Given the description of an element on the screen output the (x, y) to click on. 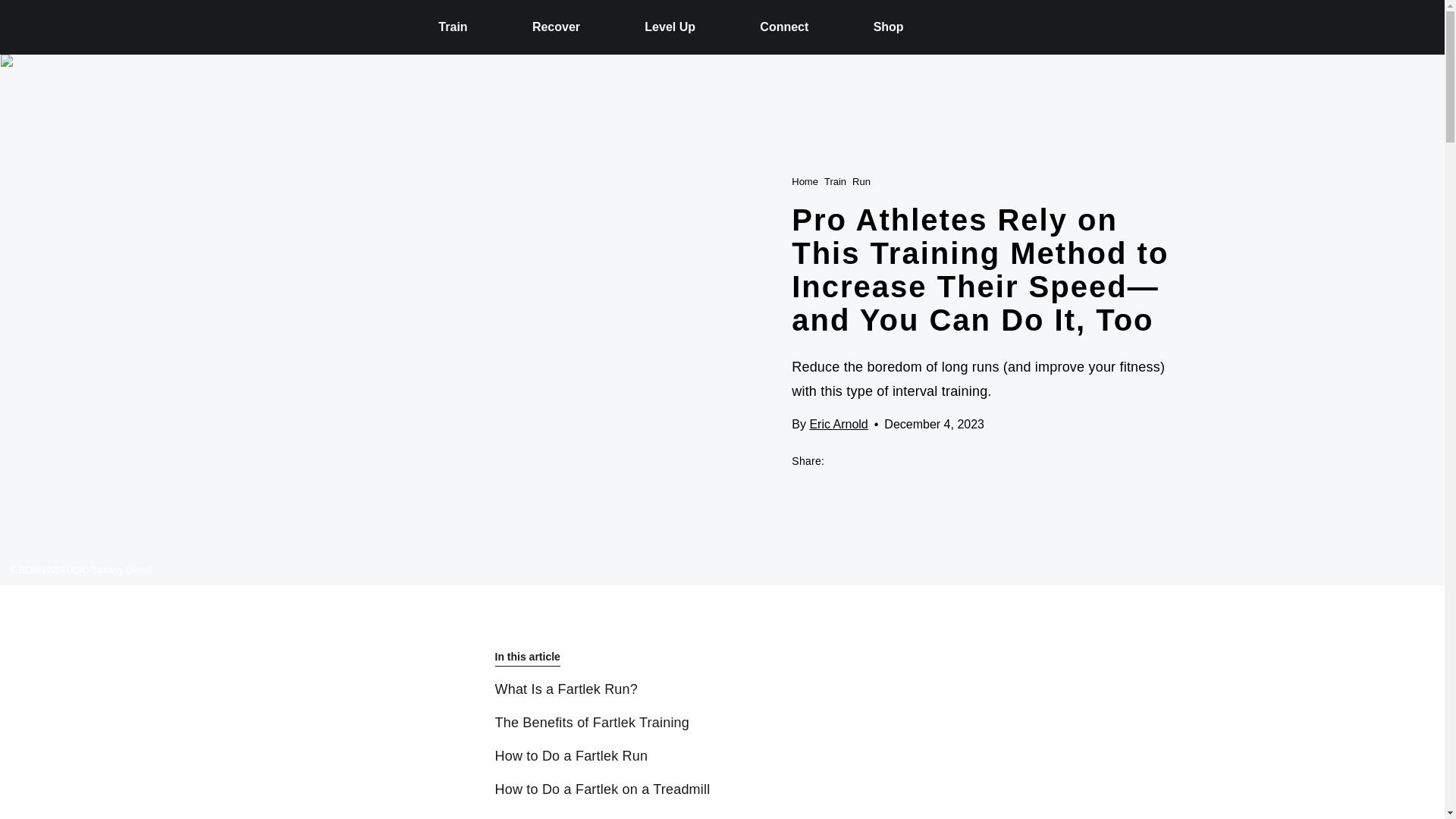
Shop (888, 27)
Home (805, 180)
Train (834, 180)
Run (860, 180)
Train (452, 27)
Level Up (670, 27)
Eric Arnold (838, 422)
Connect (784, 27)
Recover (555, 27)
